Given the description of an element on the screen output the (x, y) to click on. 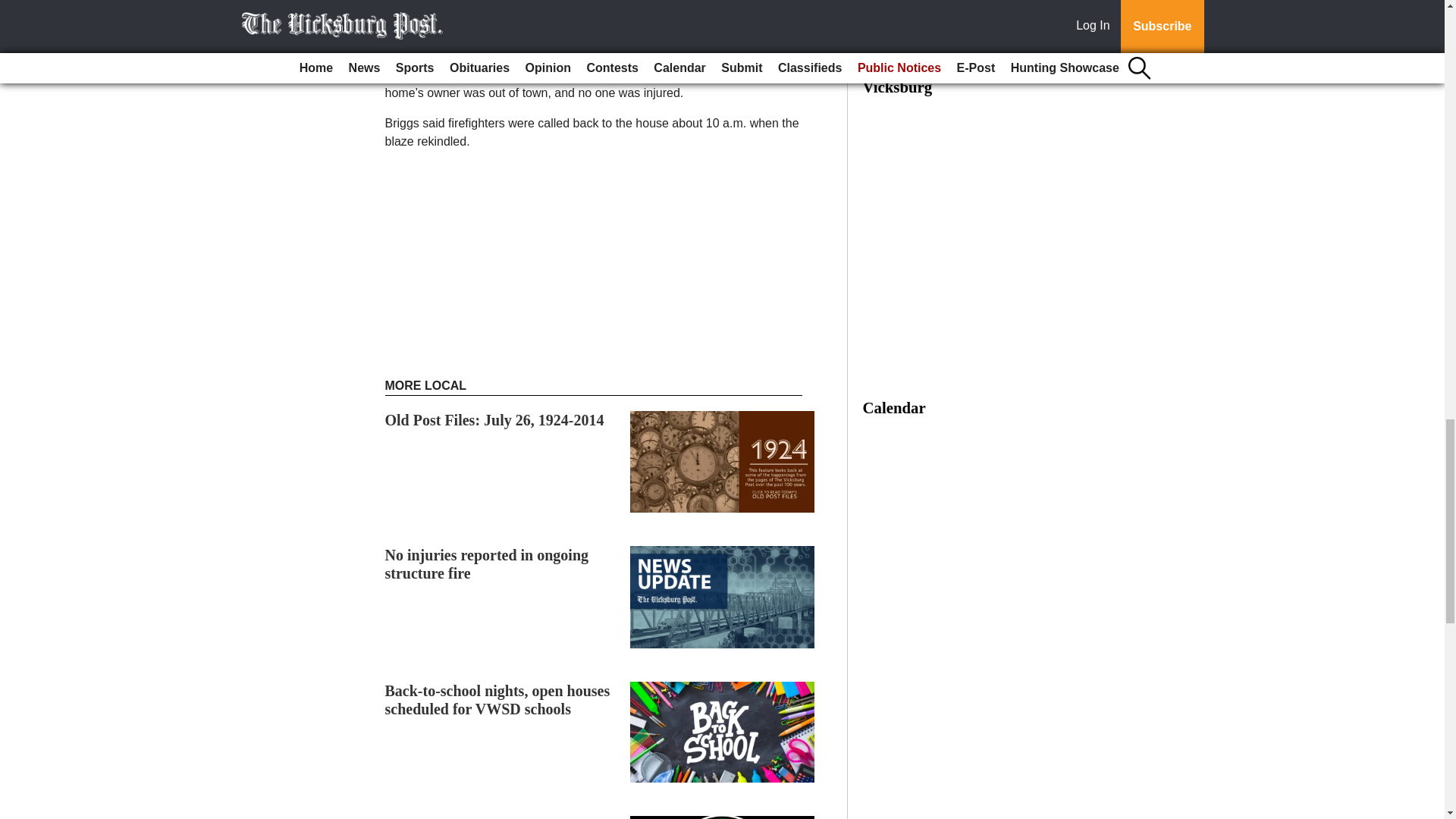
No injuries reported in ongoing structure fire (487, 564)
Old Post Files: July 26, 1924-2014 (494, 419)
No injuries reported in ongoing structure fire (487, 564)
Old Post Files: July 26, 1924-2014 (494, 419)
